Given the description of an element on the screen output the (x, y) to click on. 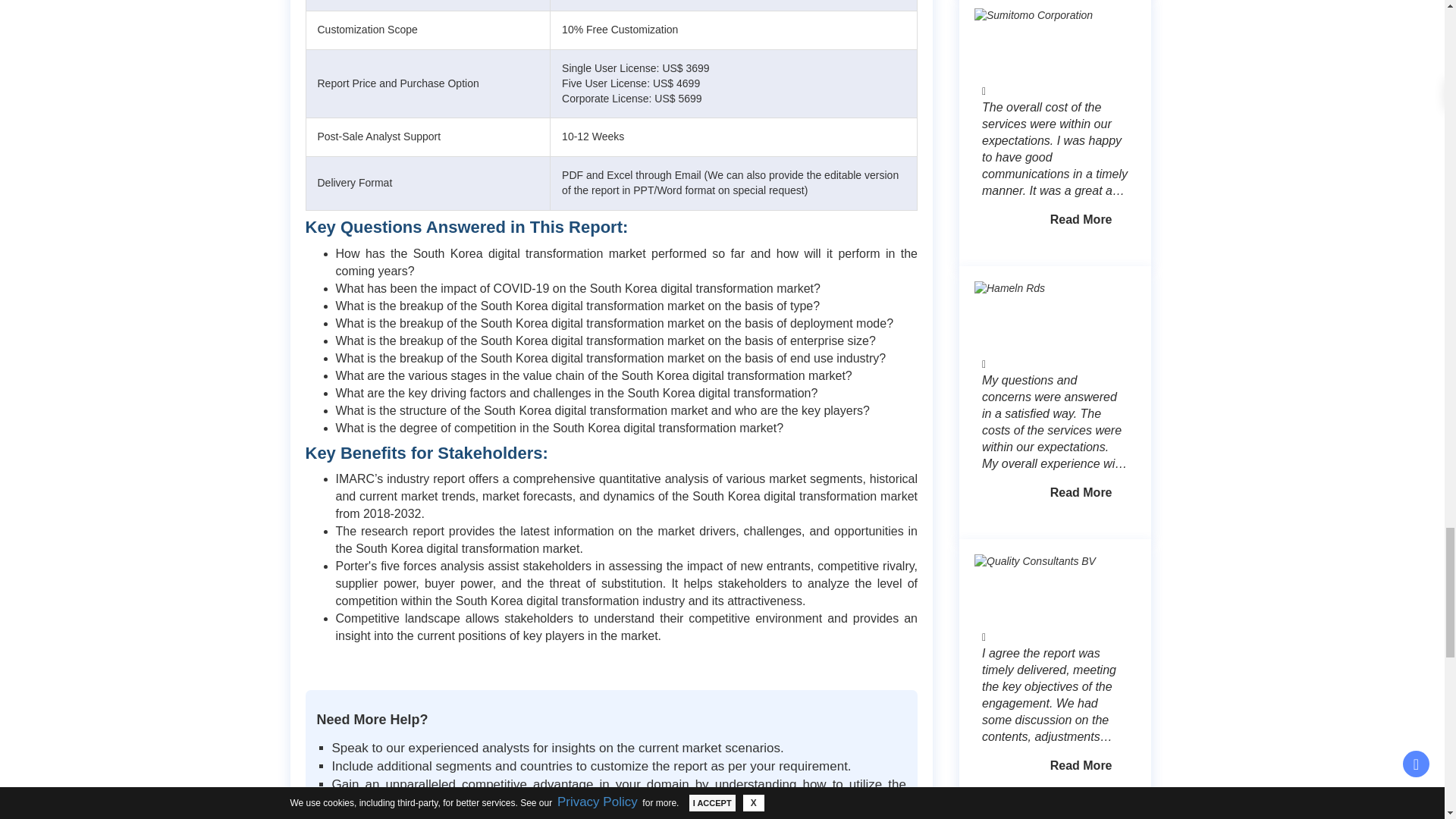
Know more (1081, 220)
Know more (1081, 492)
Know more (1081, 765)
